Given the description of an element on the screen output the (x, y) to click on. 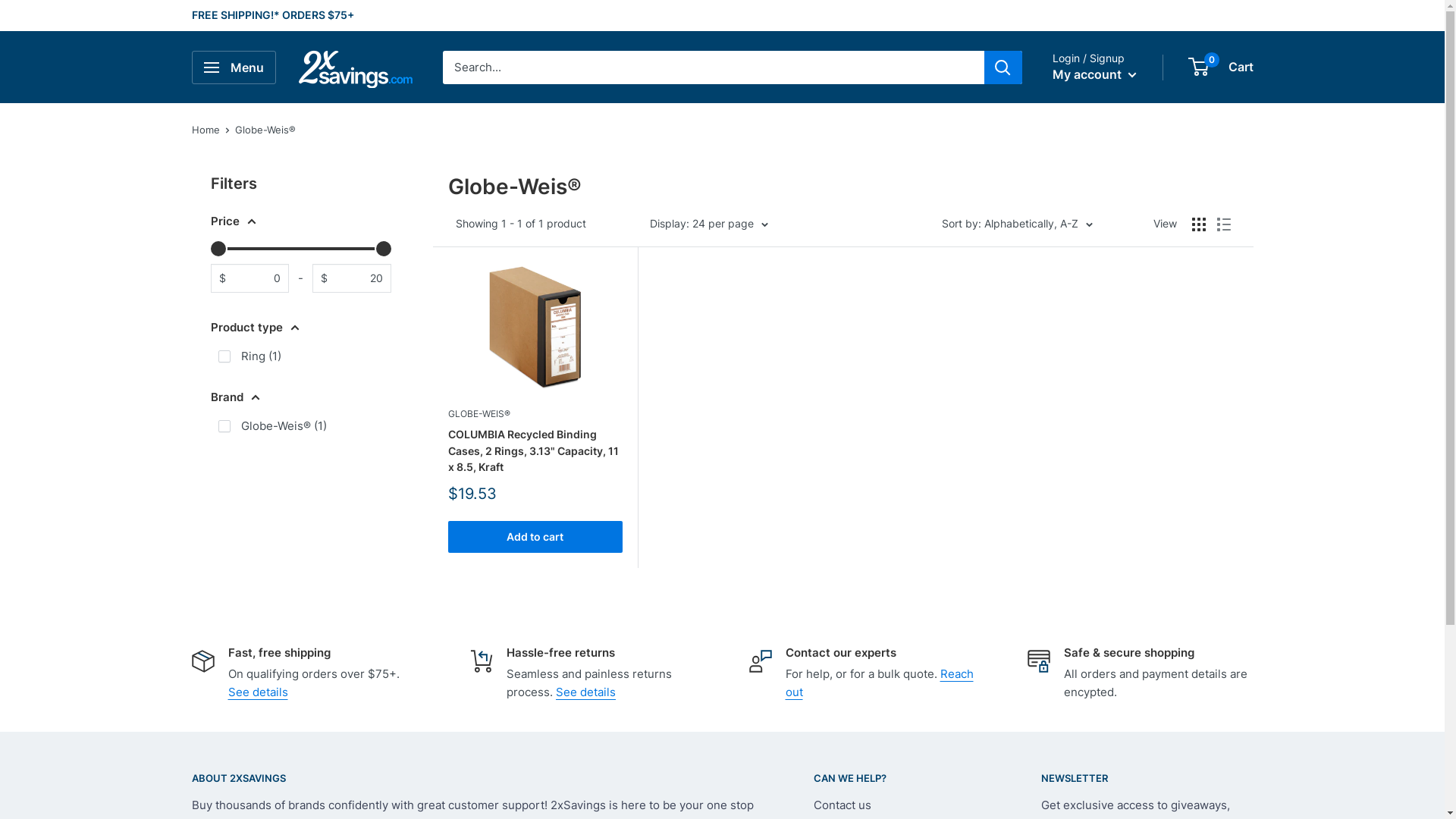
ABOUT 2XSAVINGS Element type: text (475, 777)
Sort by: Alphabetically, A-Z Element type: text (1016, 223)
CAN WE HELP? Element type: text (899, 777)
Brand Element type: text (300, 396)
Menu Element type: text (233, 67)
Contact us Element type: text (899, 804)
0
Cart Element type: text (1220, 67)
See details Element type: text (257, 691)
Product type Element type: text (300, 327)
Price Element type: text (300, 221)
My account Element type: text (1094, 74)
Display: 24 per page Element type: text (708, 223)
Reach out Element type: text (879, 682)
Add to cart Element type: text (534, 536)
Home Element type: text (205, 129)
See details Element type: text (585, 691)
2xSavings Element type: text (355, 66)
